Given the description of an element on the screen output the (x, y) to click on. 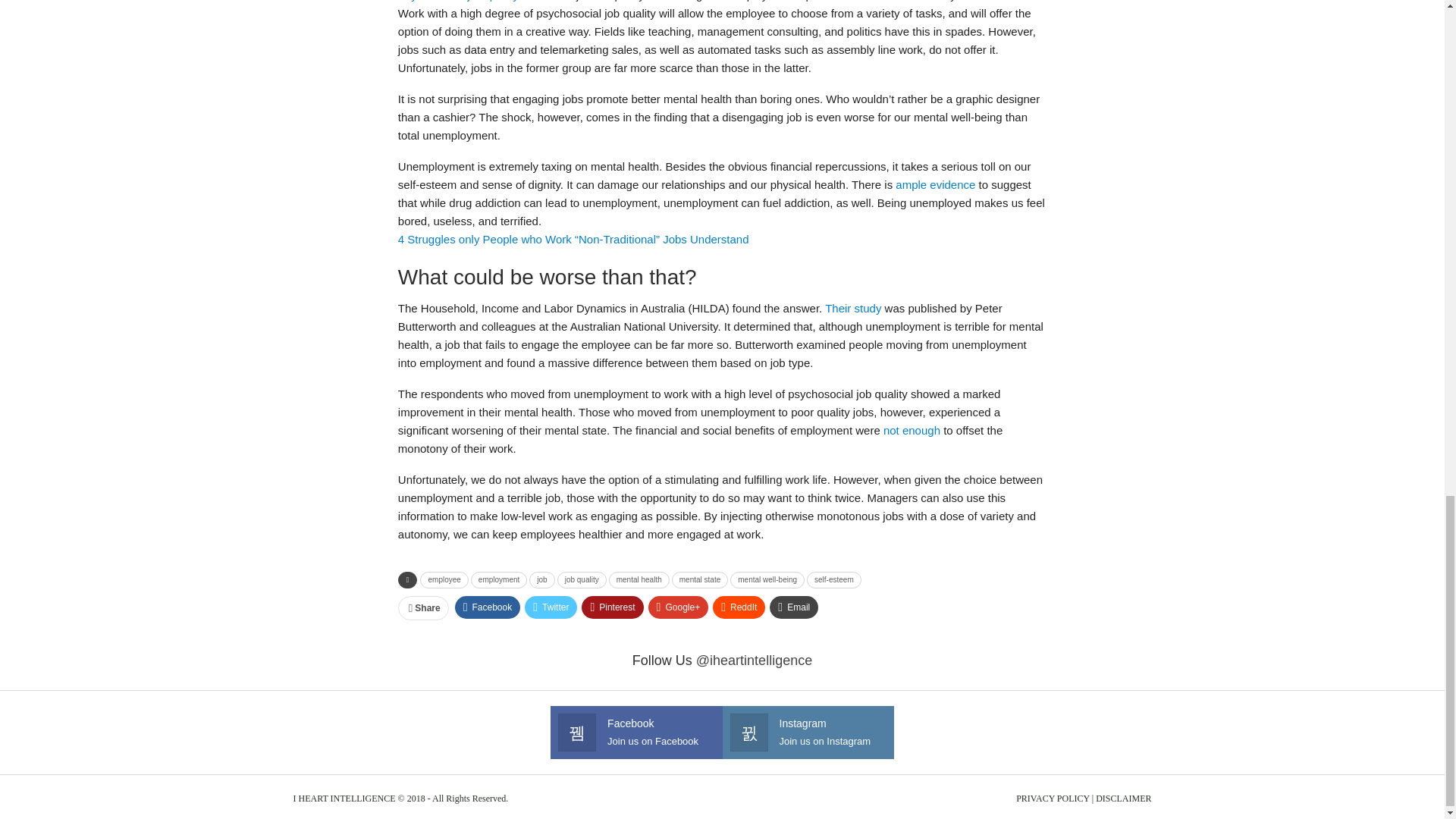
Their study (852, 308)
not enough (911, 430)
ample evidence (935, 184)
Psychosocial job quality (457, 0)
